Given the description of an element on the screen output the (x, y) to click on. 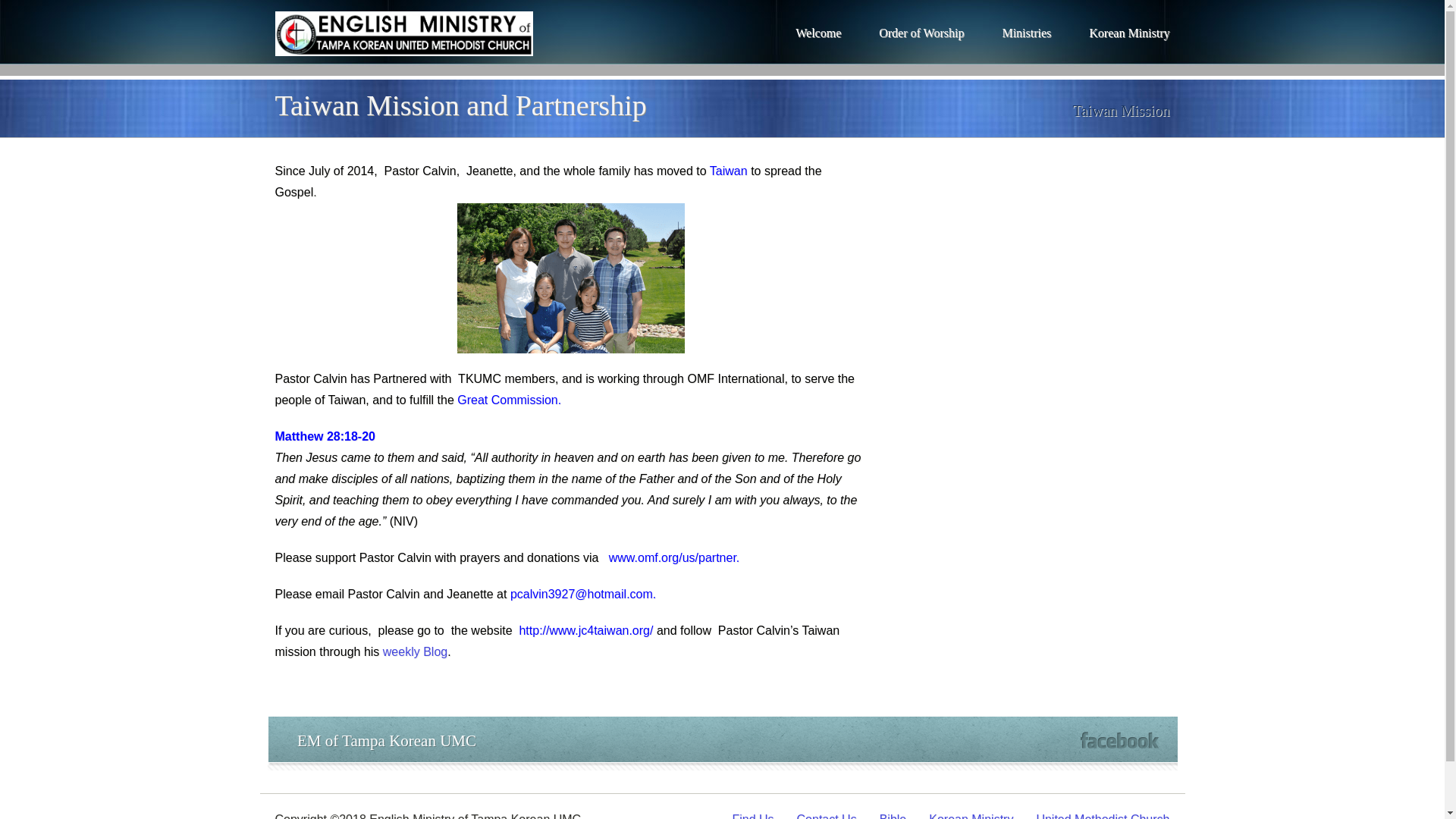
Bible (893, 816)
Taiwan wiki (729, 170)
Contact Us (826, 816)
United Methodist Church (1102, 816)
Facebook (1118, 740)
Ministries (1026, 33)
weekly Blog (414, 651)
The Wesley Chapel (403, 45)
OMF International (735, 378)
Order of Worship (921, 33)
Korean Ministry (970, 816)
Great Commission (507, 399)
Korean Ministry (1129, 33)
Welcome (817, 33)
